Given the description of an element on the screen output the (x, y) to click on. 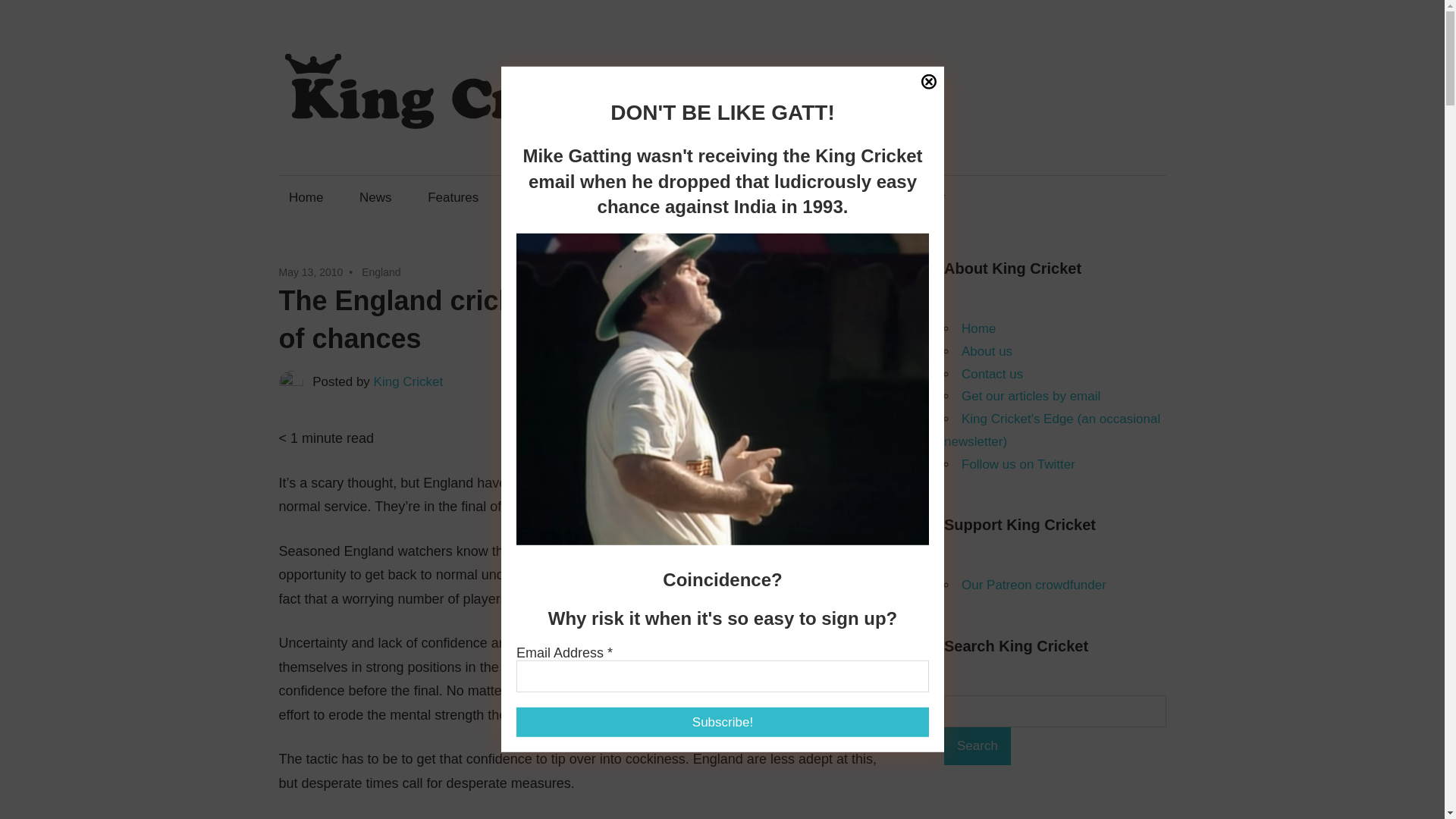
England (380, 272)
Privacy policy (752, 491)
Subscribe! (721, 721)
Home (306, 196)
Email Address (721, 676)
Contact us (631, 196)
View all posts by King Cricket (409, 381)
May 13, 2010 (311, 272)
Search (976, 745)
8:07 pm (311, 272)
